Given the description of an element on the screen output the (x, y) to click on. 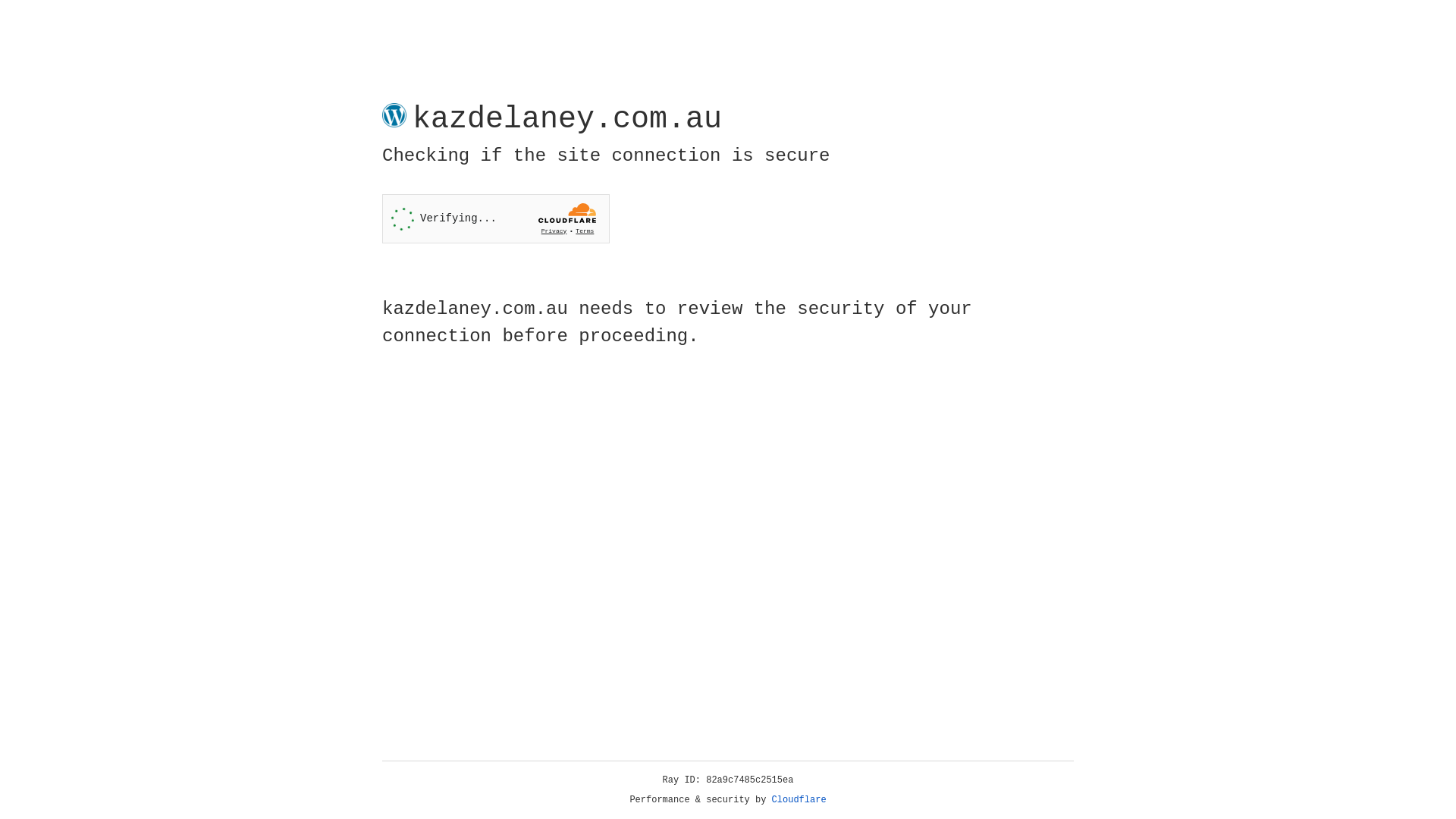
Cloudflare Element type: text (798, 799)
Widget containing a Cloudflare security challenge Element type: hover (495, 218)
